Given the description of an element on the screen output the (x, y) to click on. 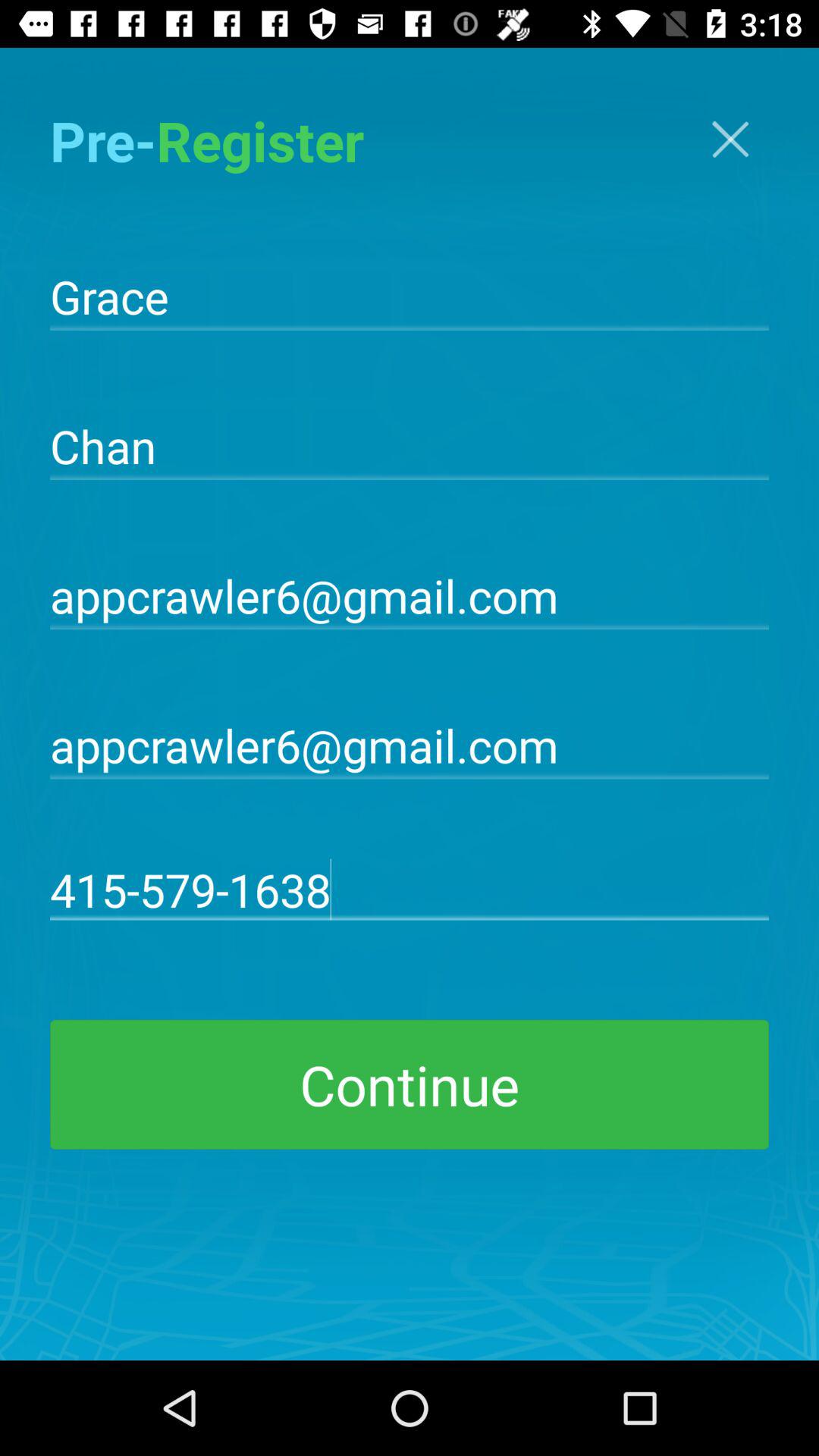
press 415-579-1638 (409, 889)
